Given the description of an element on the screen output the (x, y) to click on. 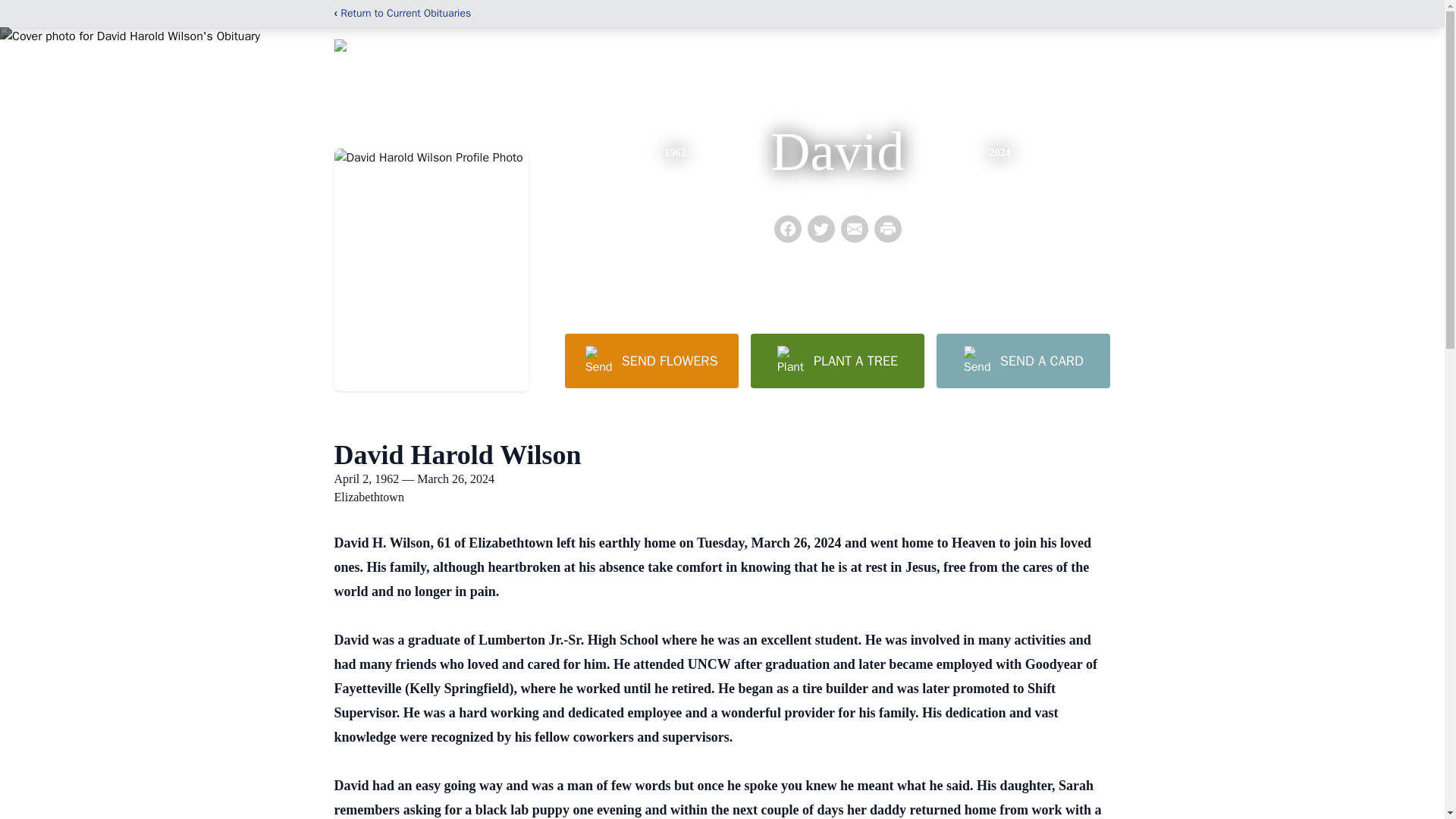
SEND FLOWERS (651, 360)
SEND A CARD (1022, 360)
PLANT A TREE (837, 360)
